Given the description of an element on the screen output the (x, y) to click on. 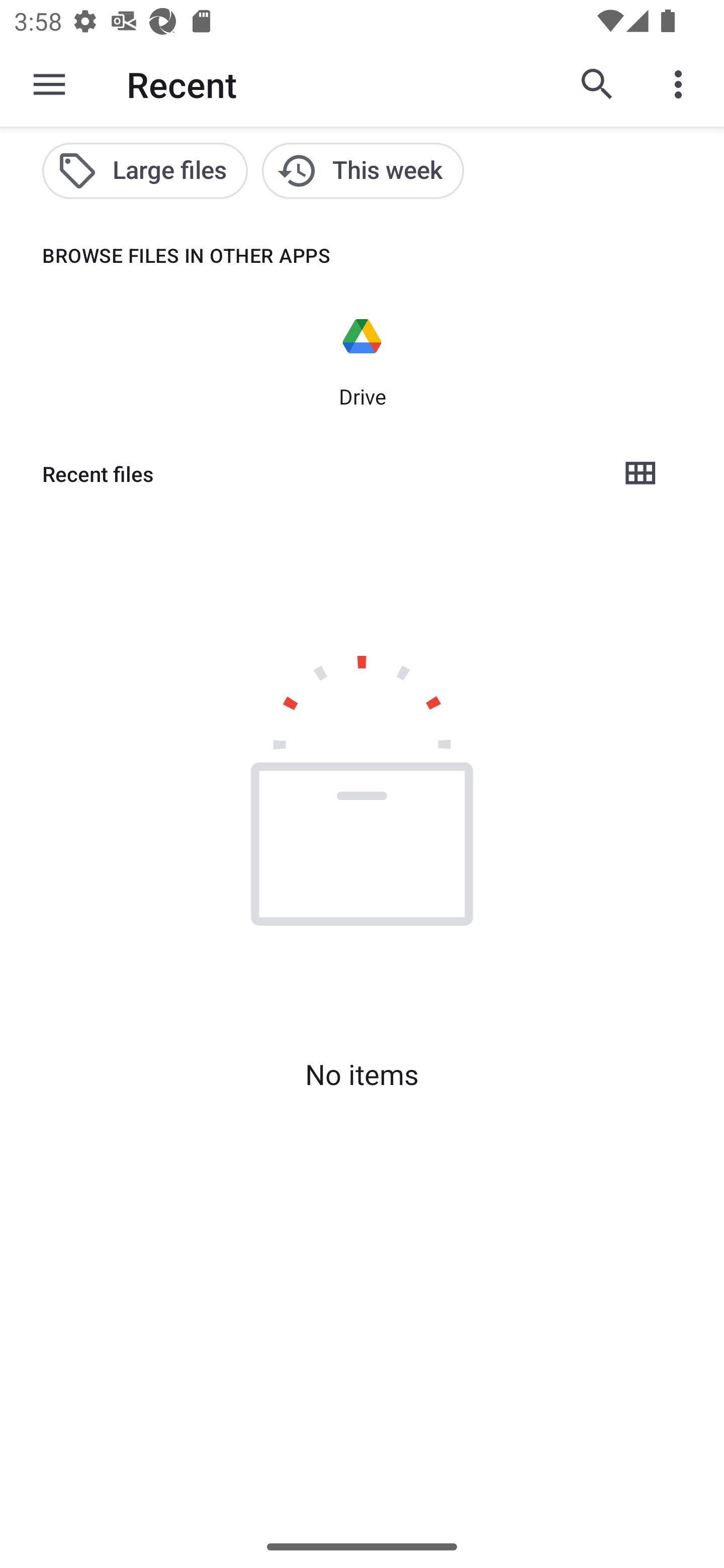
Show roots (49, 84)
Search (597, 84)
More options (681, 84)
Large files (144, 170)
This week (363, 170)
Drive (362, 359)
Grid view (639, 473)
